Given the description of an element on the screen output the (x, y) to click on. 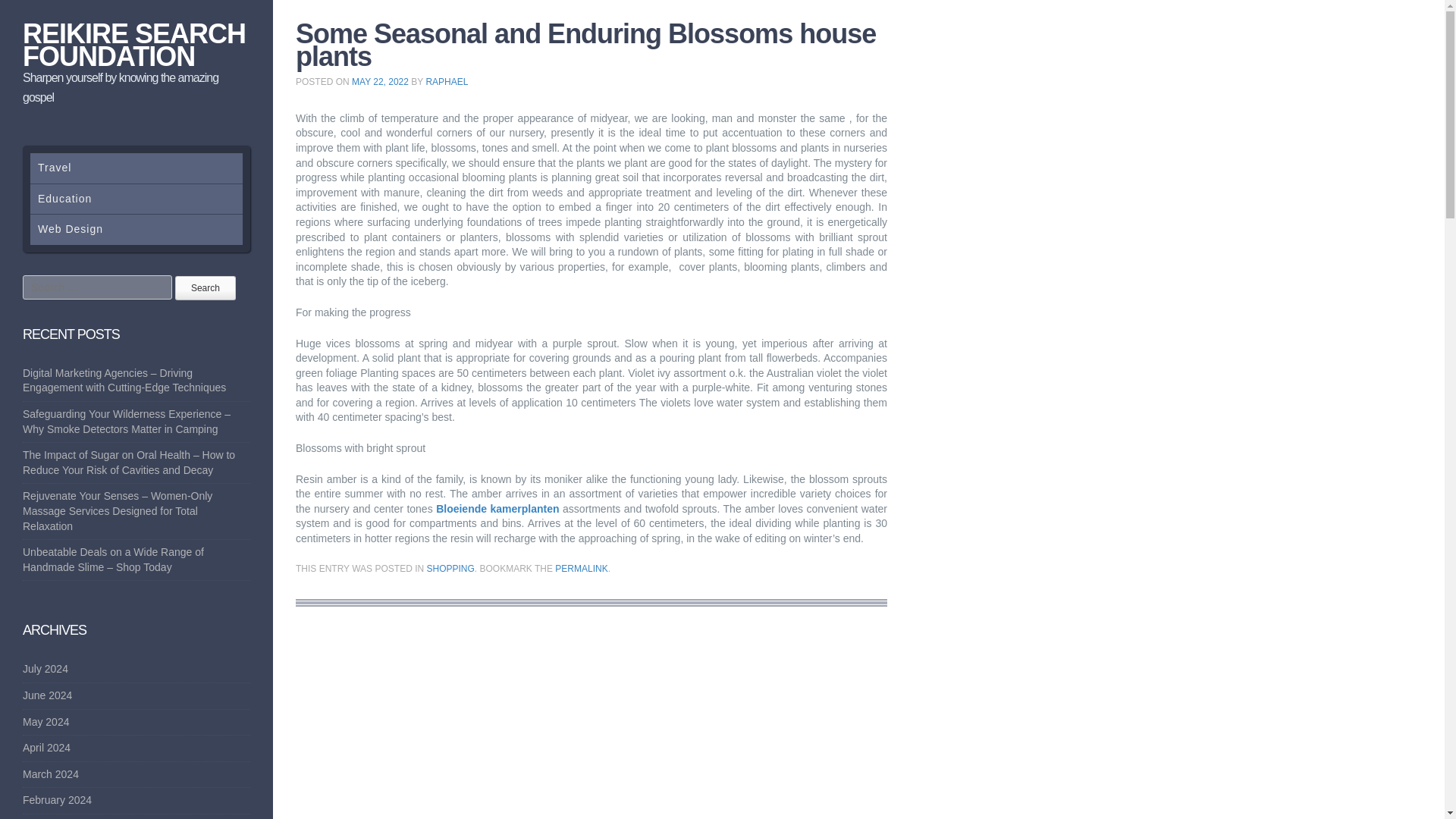
11:10 am (380, 81)
April 2024 (46, 747)
Web Design (136, 228)
Reikire Search Foundation (134, 45)
June 2024 (47, 695)
Education (136, 198)
July 2024 (45, 668)
May 2024 (45, 721)
Search (204, 288)
